Given the description of an element on the screen output the (x, y) to click on. 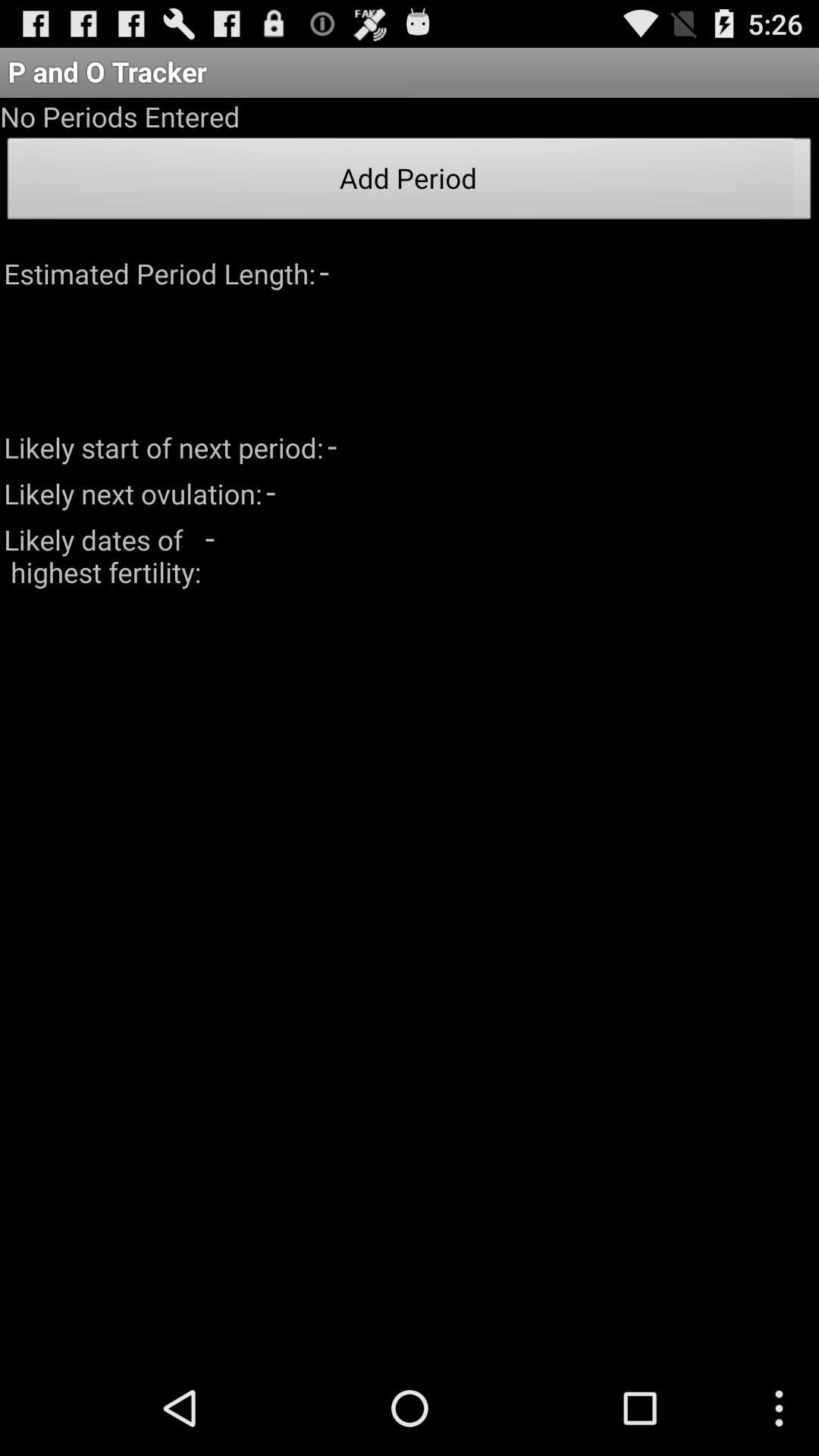
jump until the add period item (409, 182)
